Given the description of an element on the screen output the (x, y) to click on. 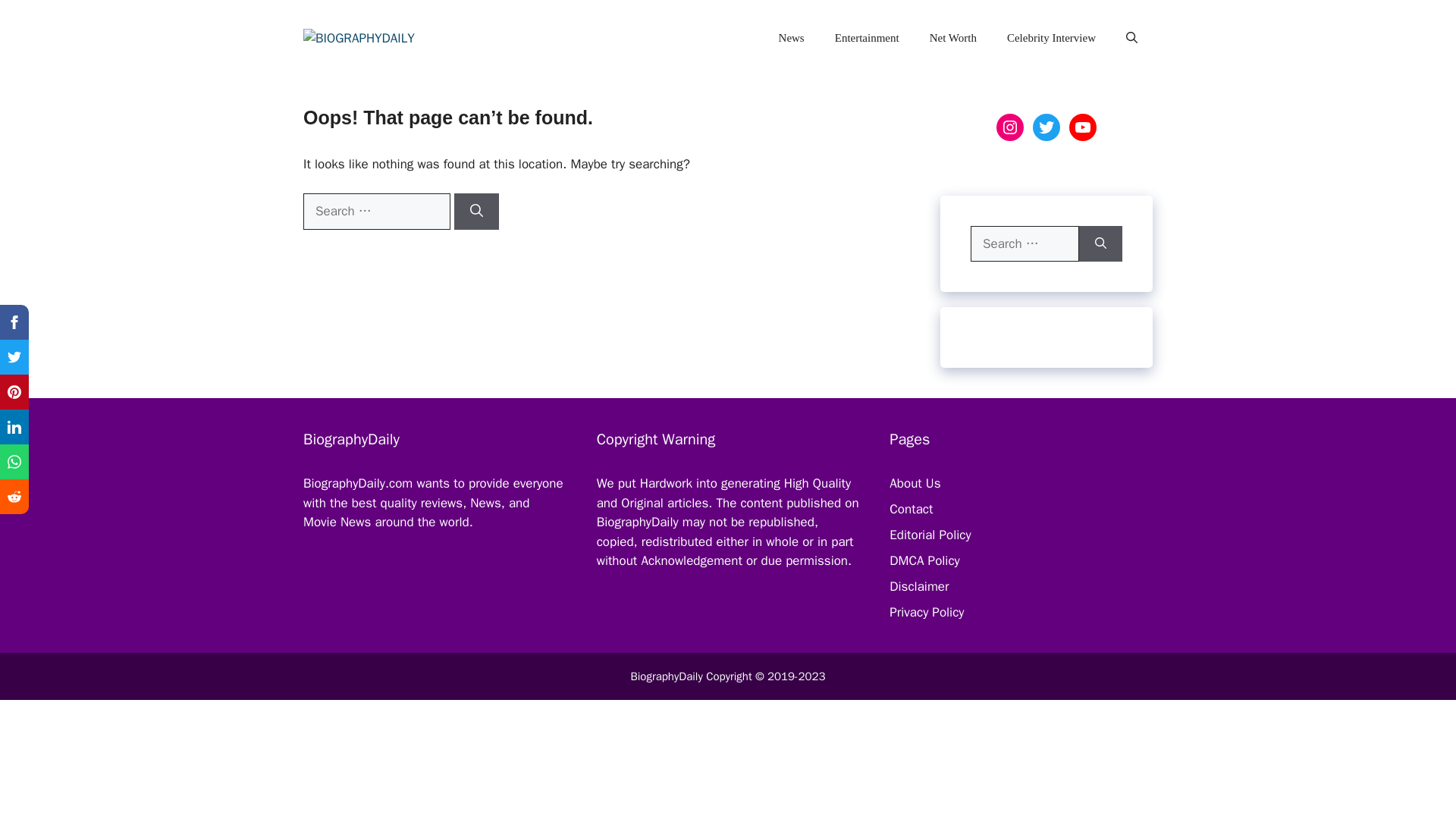
News (790, 37)
DMCA Policy (924, 560)
YouTube (1082, 126)
Search for: (1024, 244)
Privacy Policy (926, 611)
Contact (911, 508)
Editorial Policy (930, 534)
About Us (914, 483)
Search for: (375, 211)
Net Worth (952, 37)
